Given the description of an element on the screen output the (x, y) to click on. 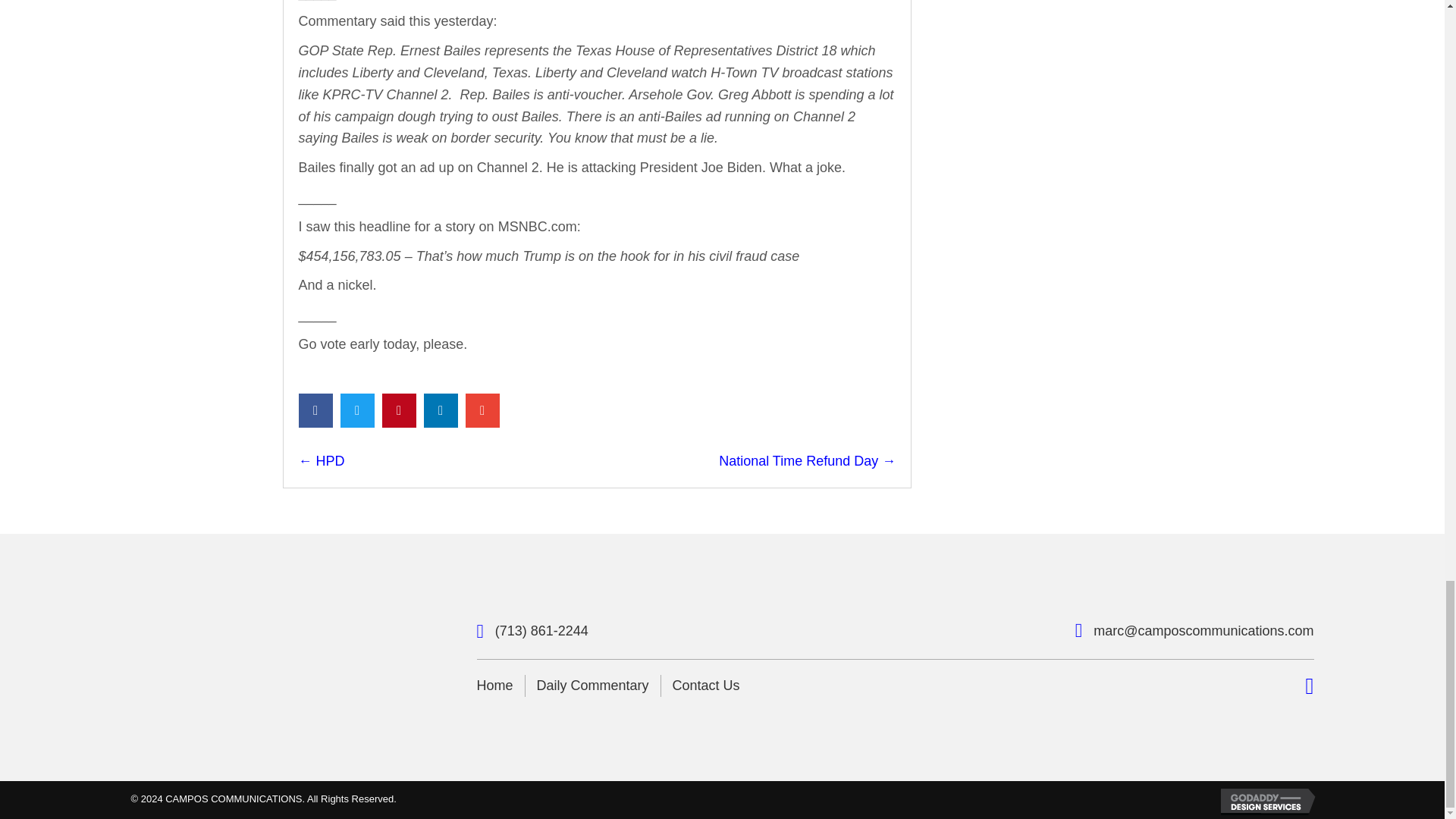
skyline9 (254, 657)
